Given the description of an element on the screen output the (x, y) to click on. 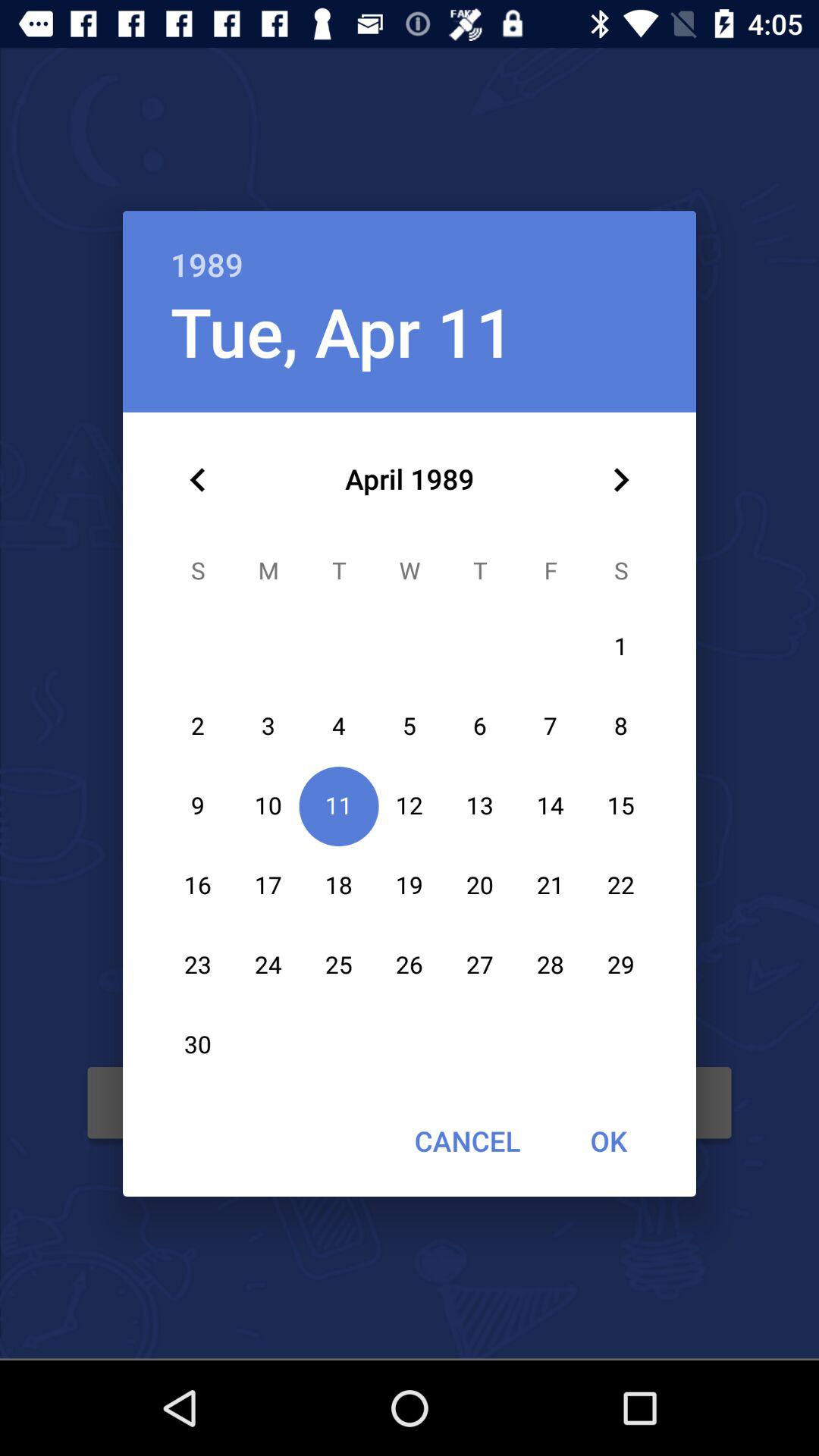
flip until the 1989 (409, 248)
